Given the description of an element on the screen output the (x, y) to click on. 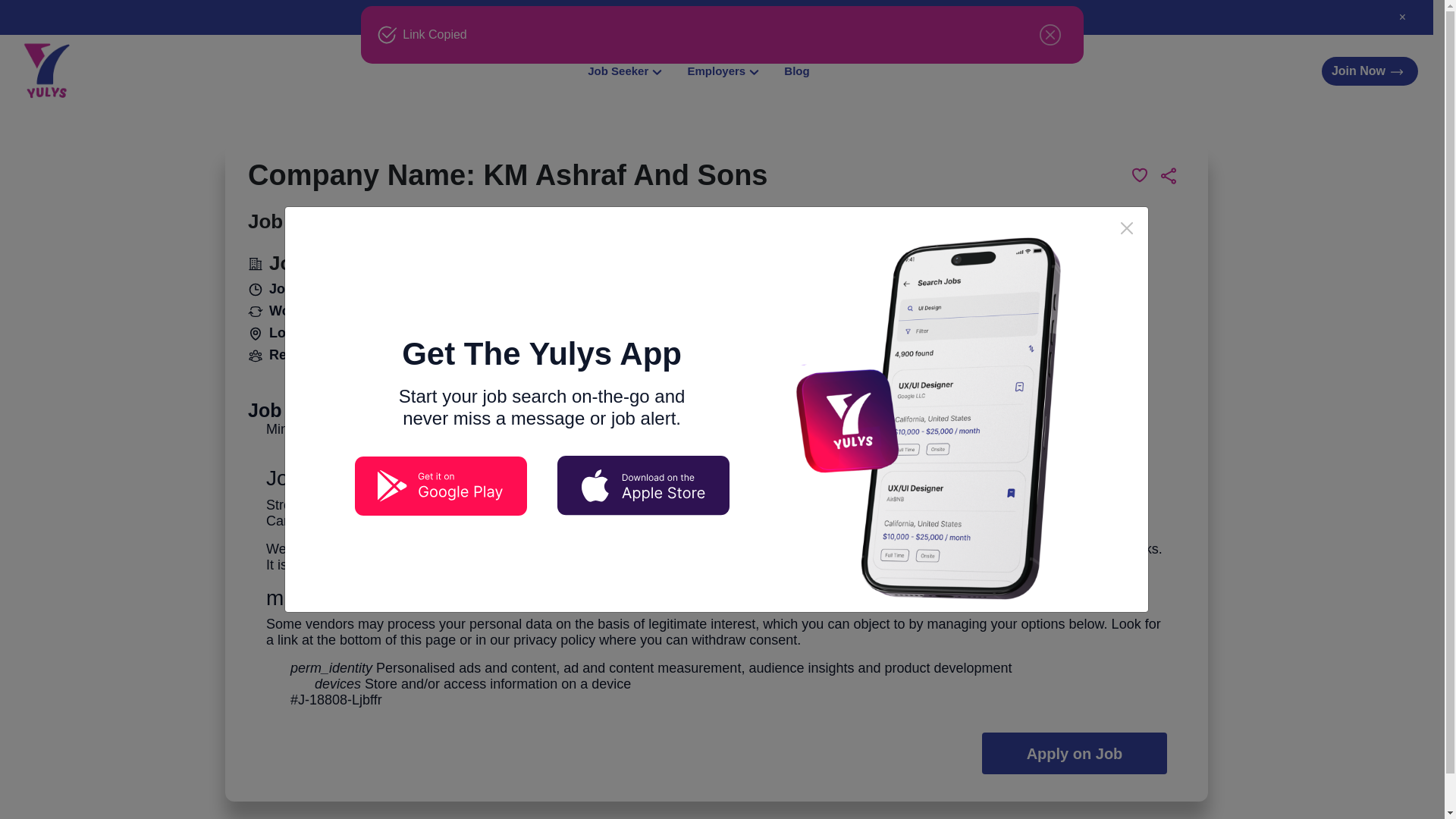
Job Title: Admin Manager (363, 220)
Apply on Job (1074, 752)
Blog (796, 70)
Job Seeker (624, 71)
Employers (723, 71)
Join Now (1370, 70)
Post a Free Job Now! (713, 17)
